Given the description of an element on the screen output the (x, y) to click on. 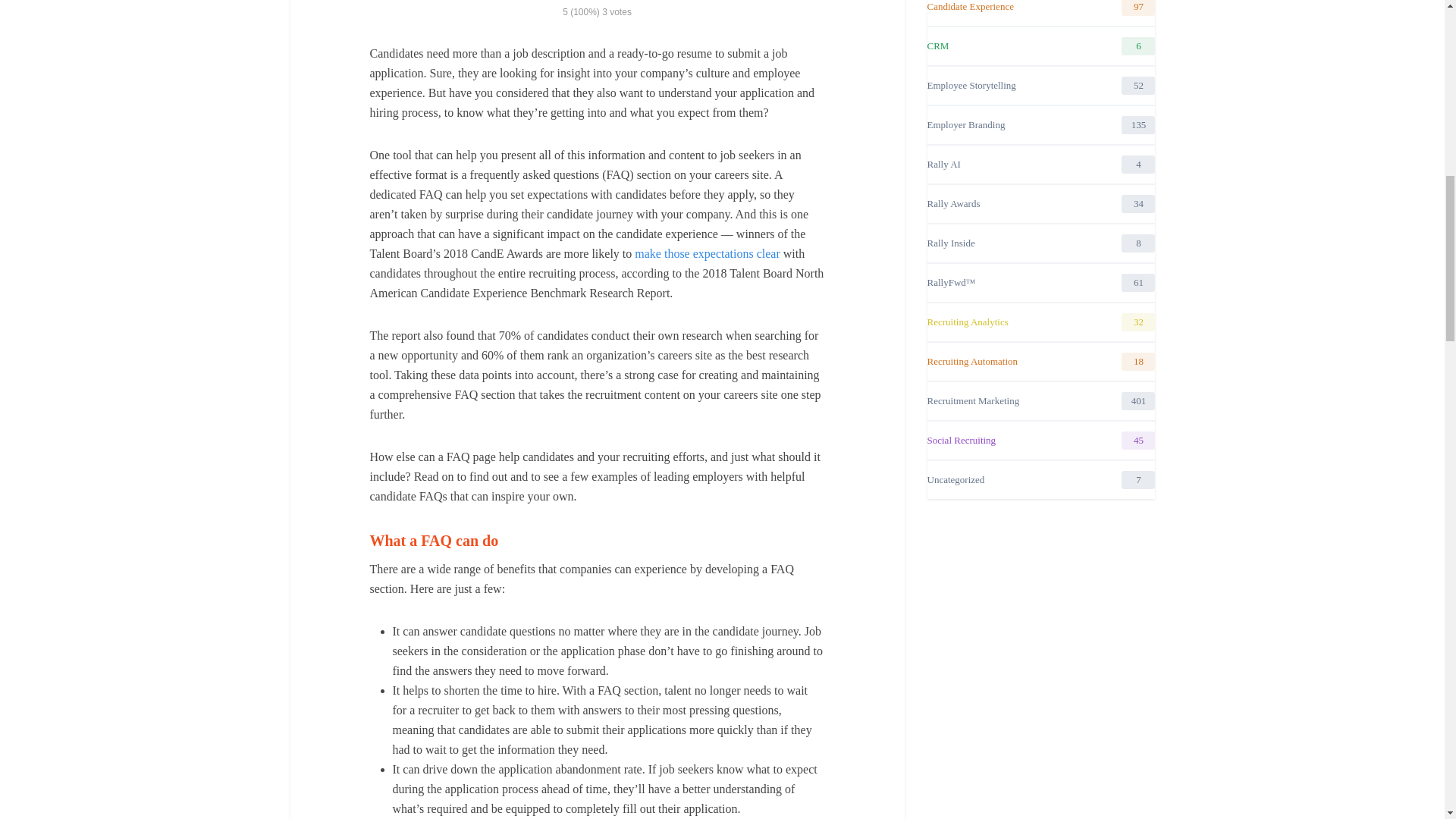
make those expectations clear (706, 253)
